Given the description of an element on the screen output the (x, y) to click on. 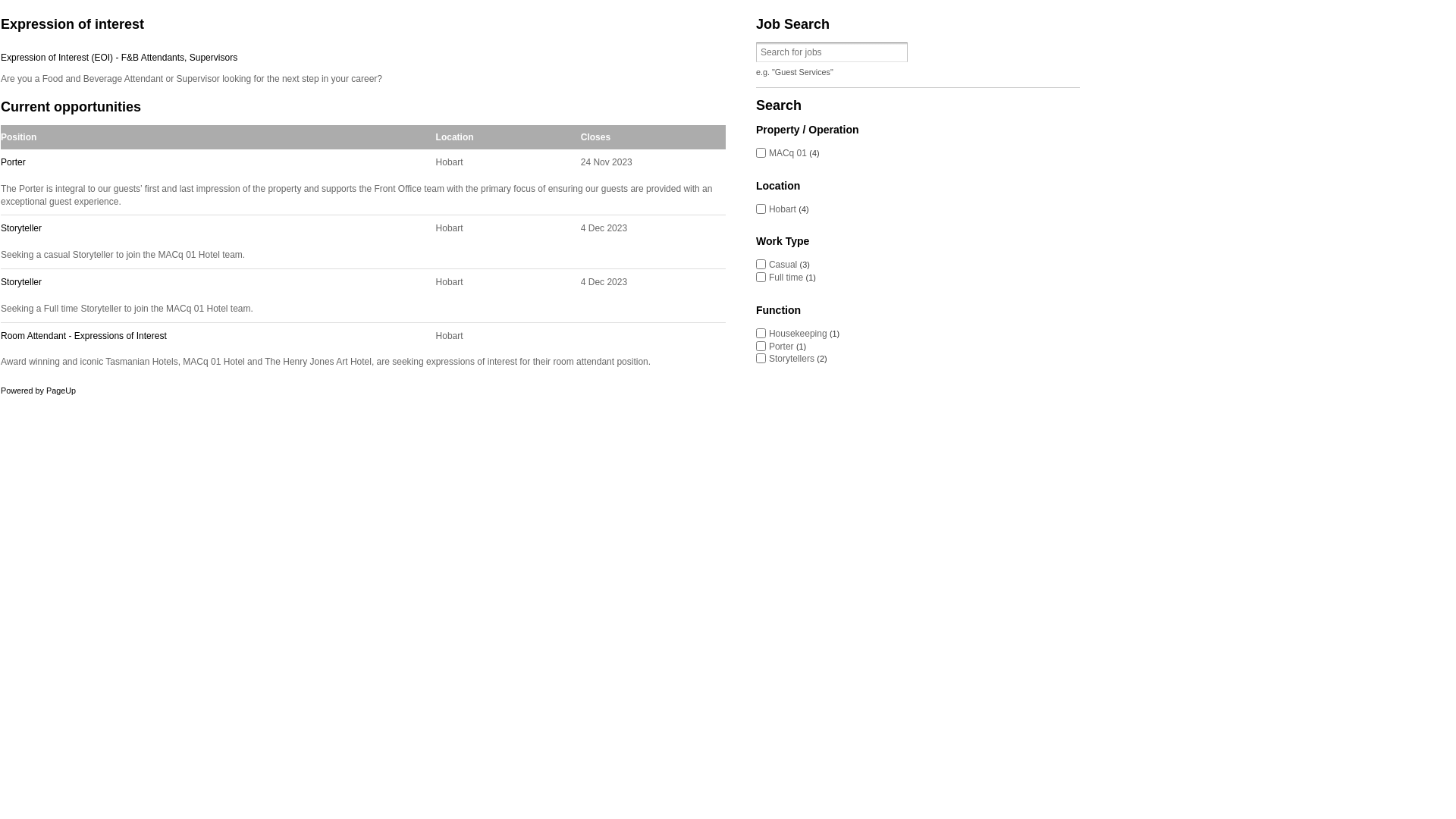
Storyteller Element type: text (213, 228)
Room Attendant - Expressions of Interest Element type: text (213, 335)
Storyteller Element type: text (213, 282)
Porter Element type: text (213, 162)
Expression of Interest (EOI) - F&B Attendants, Supervisors Element type: text (362, 57)
Powered by PageUp Element type: text (37, 390)
